Given the description of an element on the screen output the (x, y) to click on. 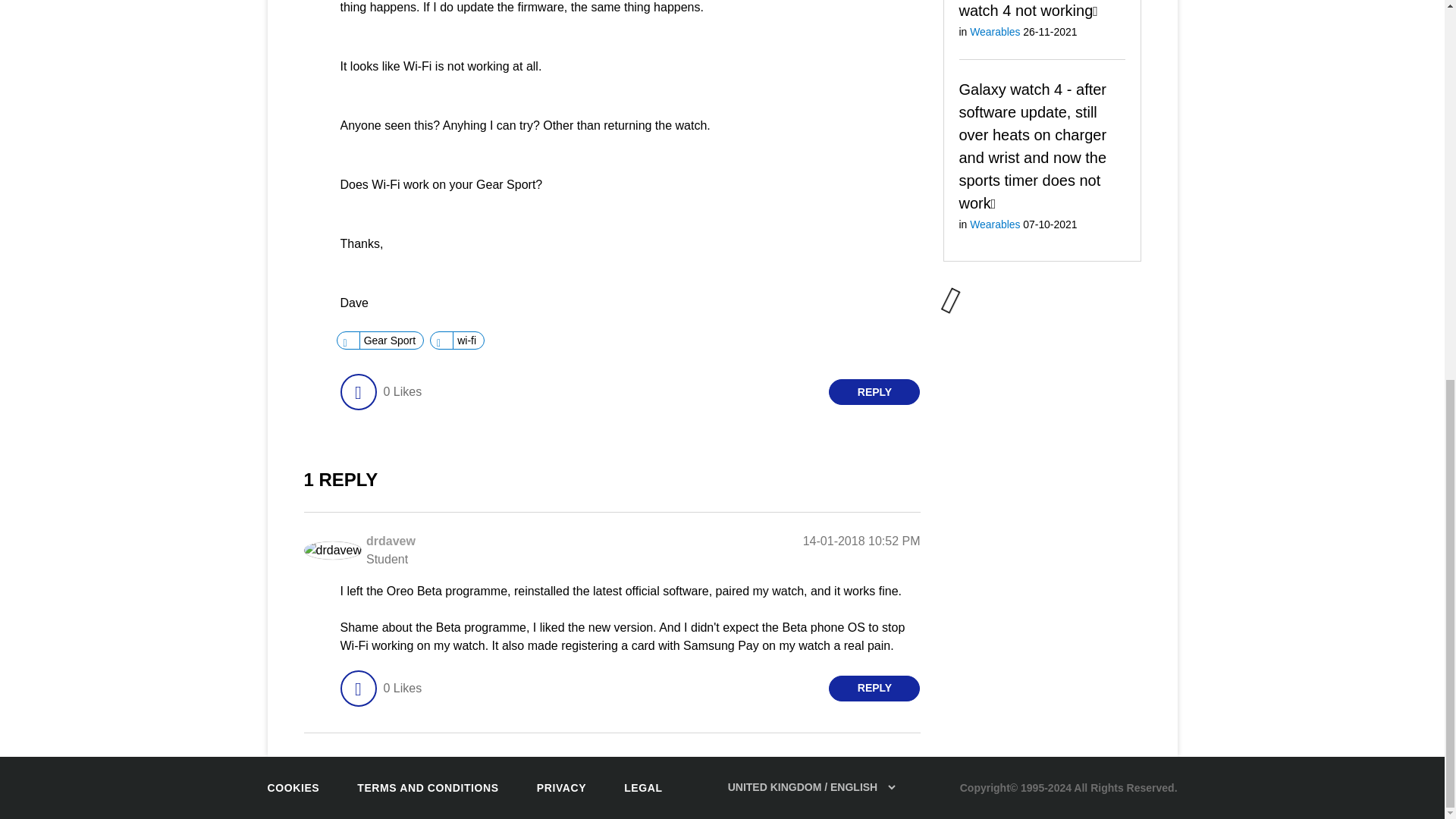
Click here to give likes to this post. (357, 391)
Gear Sport (389, 340)
The total number of likes this post has received. (401, 391)
wi-fi (466, 340)
drdavew (390, 540)
REPLY (874, 391)
